Given the description of an element on the screen output the (x, y) to click on. 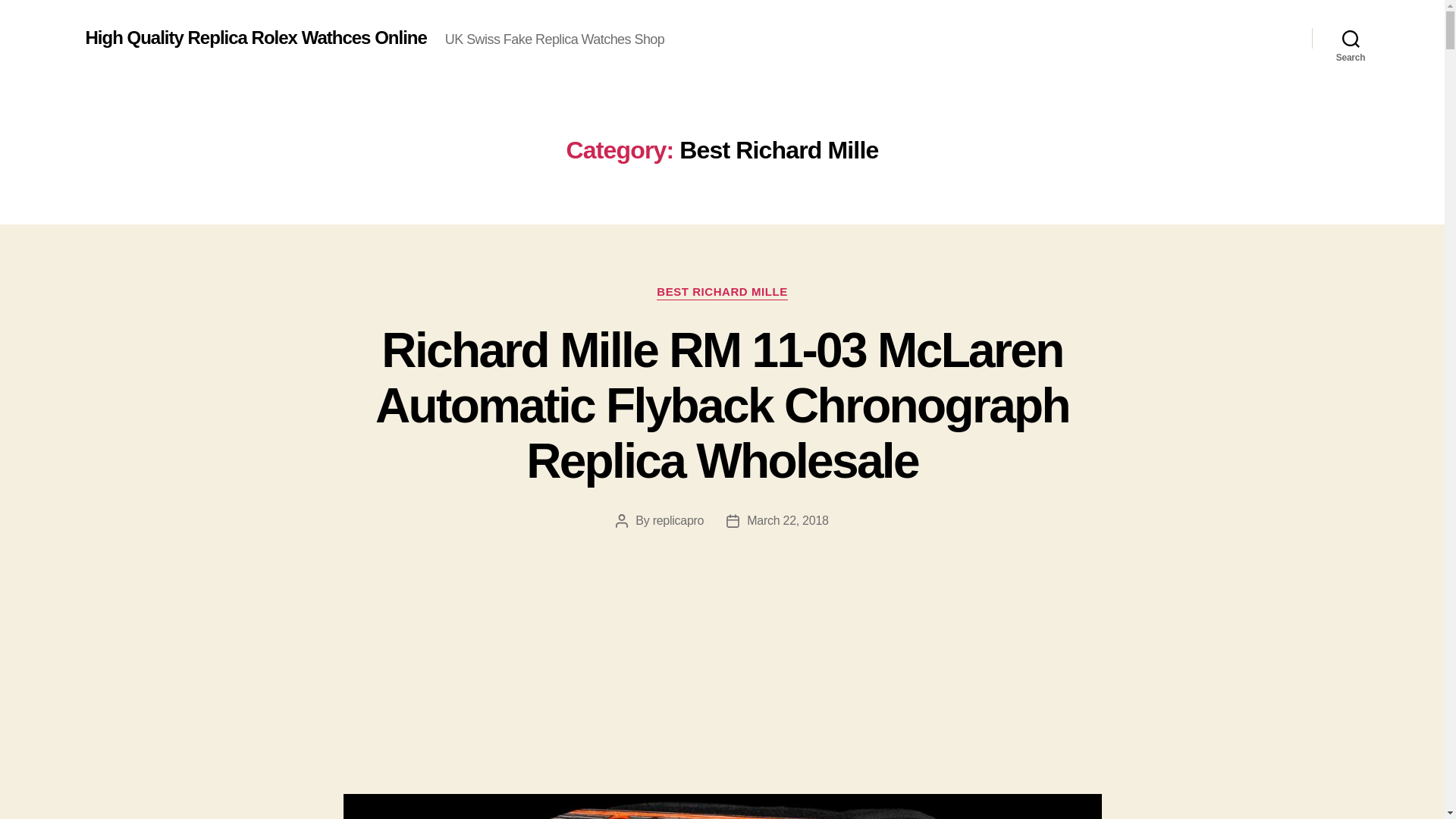
High Quality Replica Rolex Wathces Online (255, 37)
Search (1350, 37)
BEST RICHARD MILLE (721, 292)
replicapro (678, 520)
March 22, 2018 (787, 520)
